Given the description of an element on the screen output the (x, y) to click on. 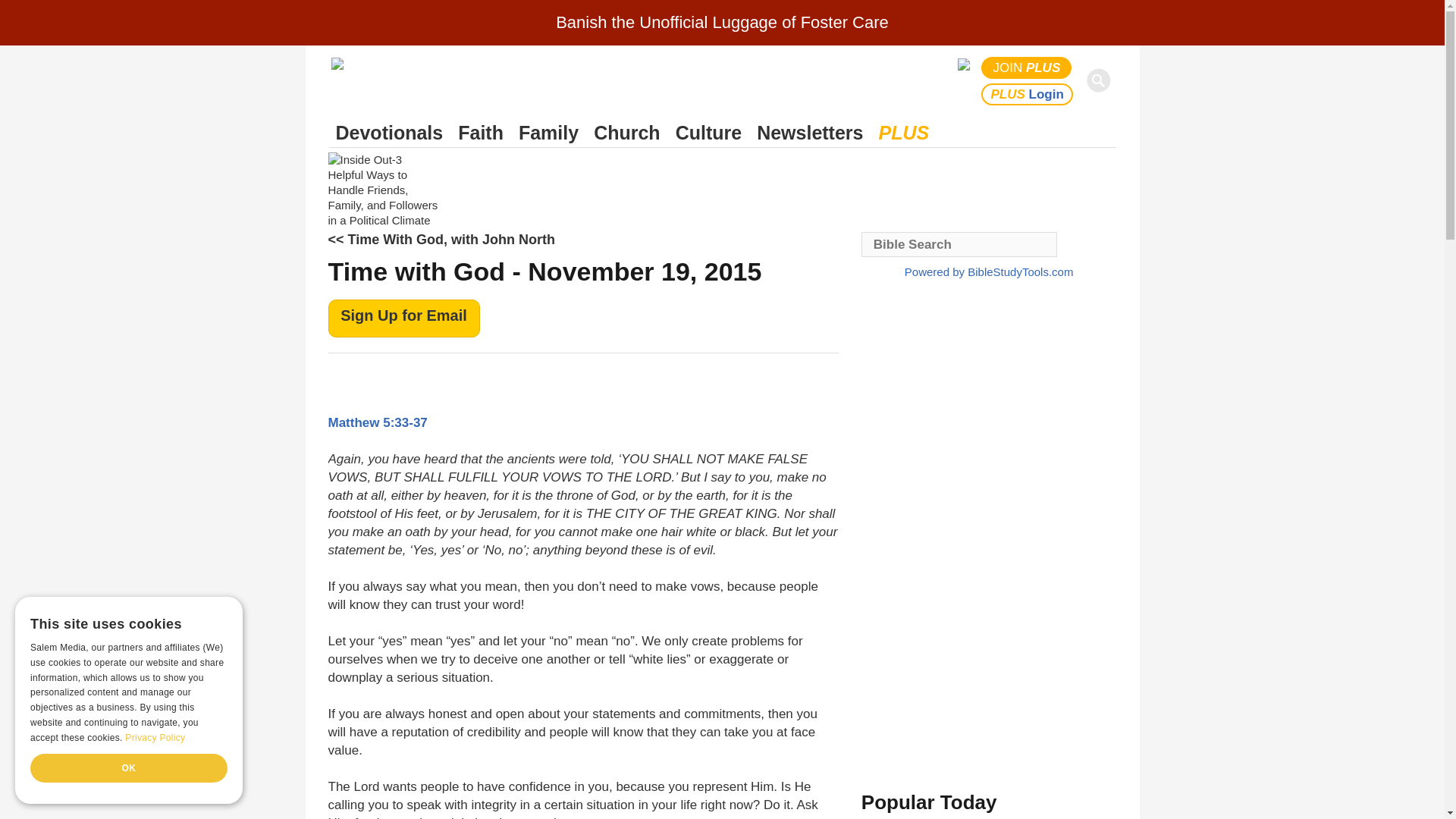
PLUS Login (1026, 94)
Search (1101, 80)
Plus Login (1026, 94)
Devotionals (389, 132)
Join Plus (1026, 67)
JOIN PLUS (1026, 67)
